Given the description of an element on the screen output the (x, y) to click on. 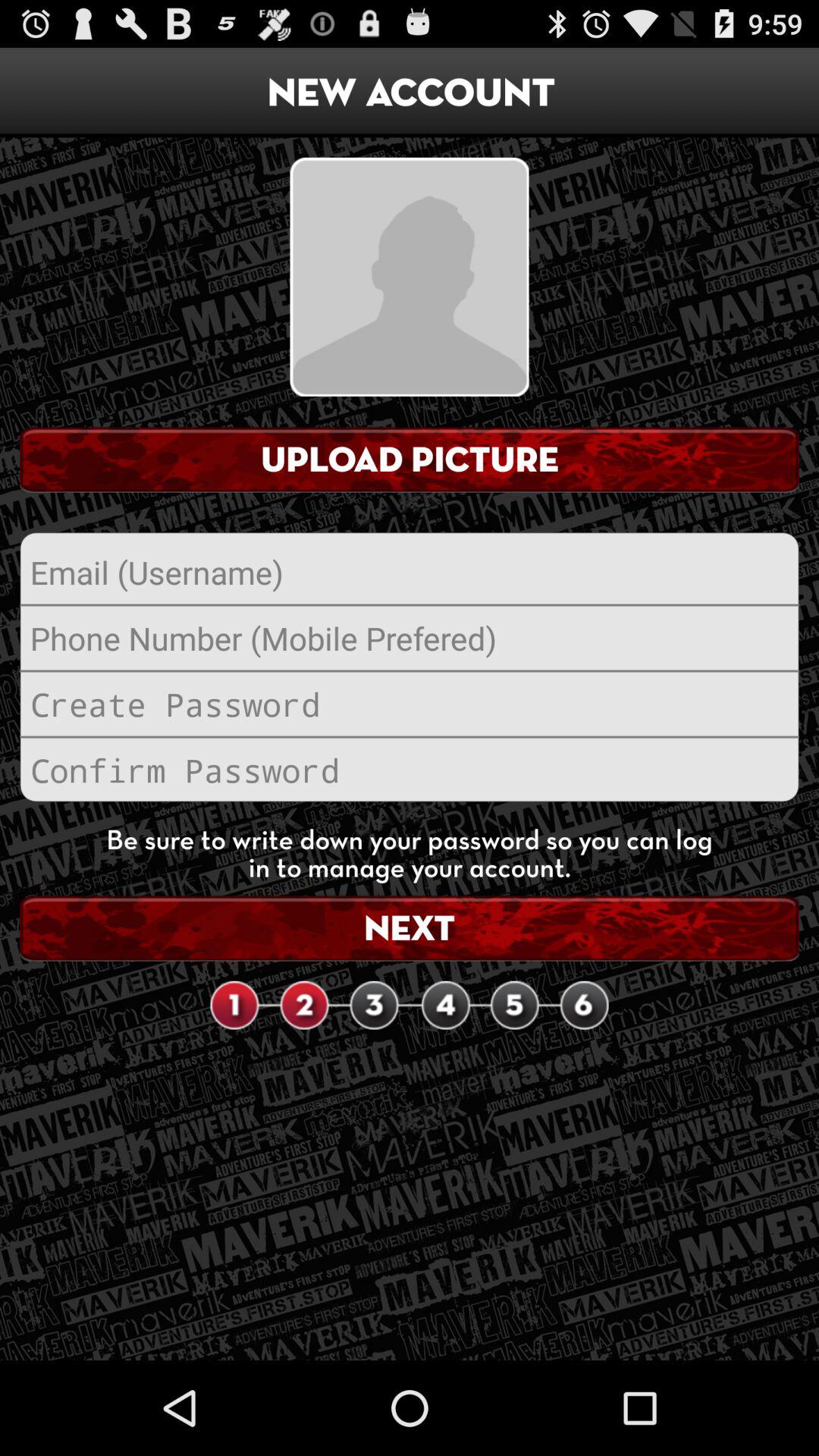
tap next (409, 928)
